Given the description of an element on the screen output the (x, y) to click on. 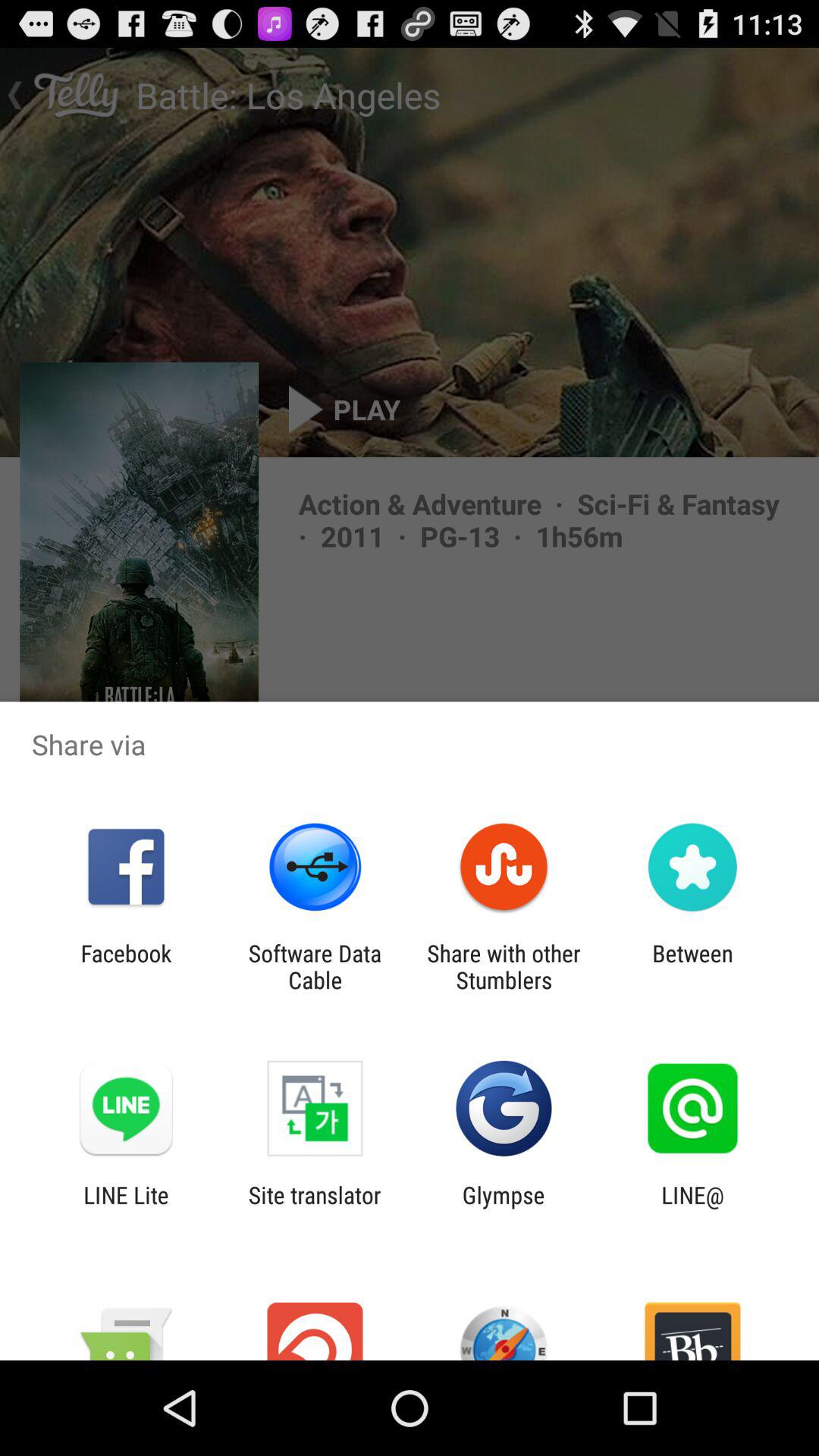
turn on the item to the left of the line@ (503, 1208)
